Given the description of an element on the screen output the (x, y) to click on. 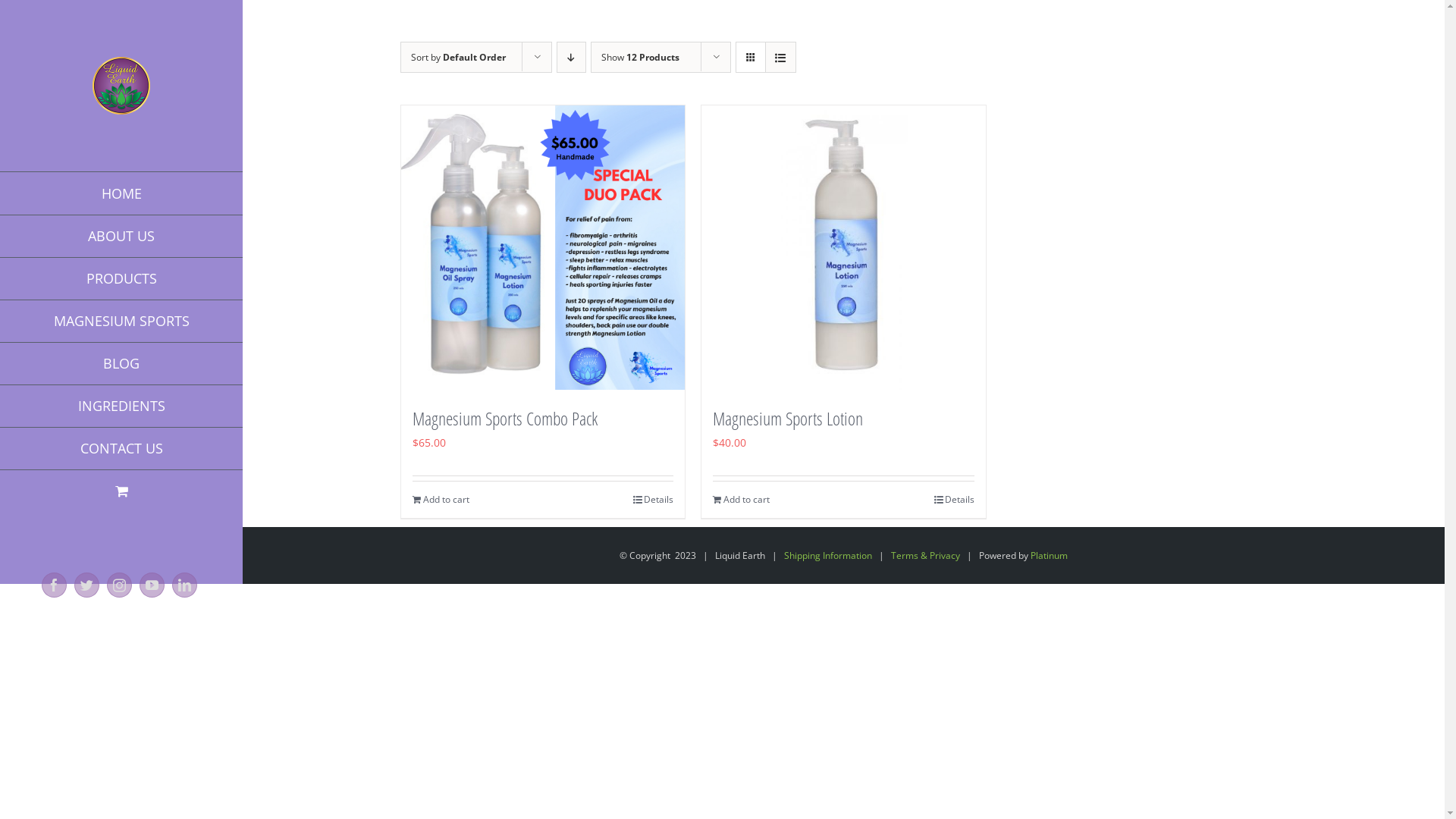
Facebook Element type: text (53, 584)
Details Element type: text (954, 499)
HOME Element type: text (121, 193)
Details Element type: text (653, 499)
MAGNESIUM SPORTS Element type: text (121, 321)
Shipping Information Element type: text (828, 555)
ABOUT US Element type: text (121, 236)
Add to cart Element type: text (440, 499)
Show 12 Products Element type: text (639, 56)
INGREDIENTS Element type: text (121, 405)
LinkedIn Element type: text (184, 584)
CONTACT US Element type: text (121, 448)
BLOG Element type: text (121, 363)
Sort by Default Order Element type: text (458, 56)
YouTube Element type: text (151, 584)
Terms & Privacy Element type: text (925, 555)
Instagram Element type: text (118, 584)
Twitter Element type: text (86, 584)
Platinum Element type: text (1048, 555)
Magnesium Sports Combo Pack Element type: text (504, 417)
Magnesium Sports Lotion Element type: text (787, 417)
Add to cart Element type: text (740, 499)
PRODUCTS Element type: text (121, 278)
